Given the description of an element on the screen output the (x, y) to click on. 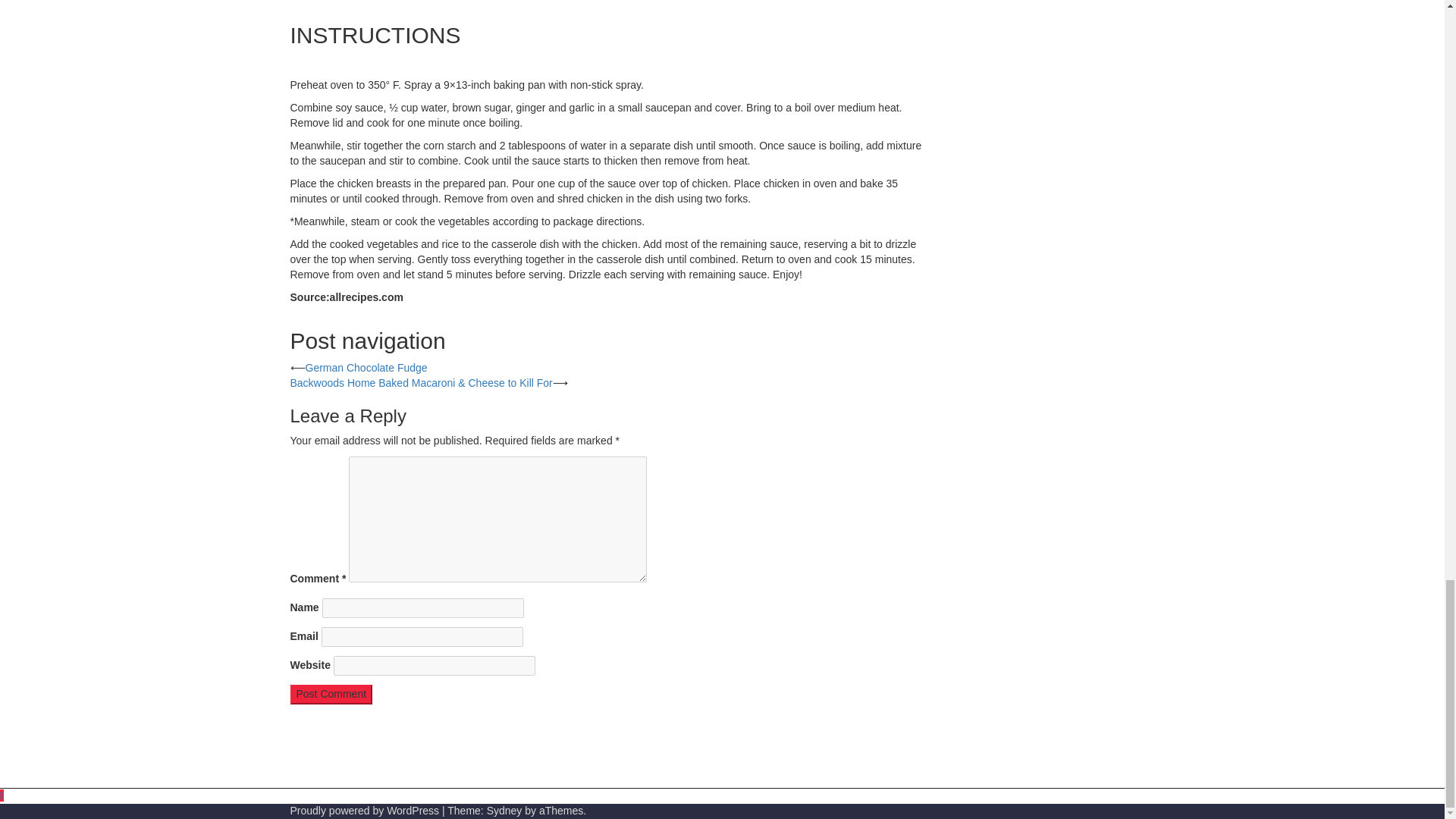
Proudly powered by WordPress (364, 810)
Post Comment (330, 694)
Post Comment (330, 694)
German Chocolate Fudge (365, 367)
Sydney (504, 810)
